Given the description of an element on the screen output the (x, y) to click on. 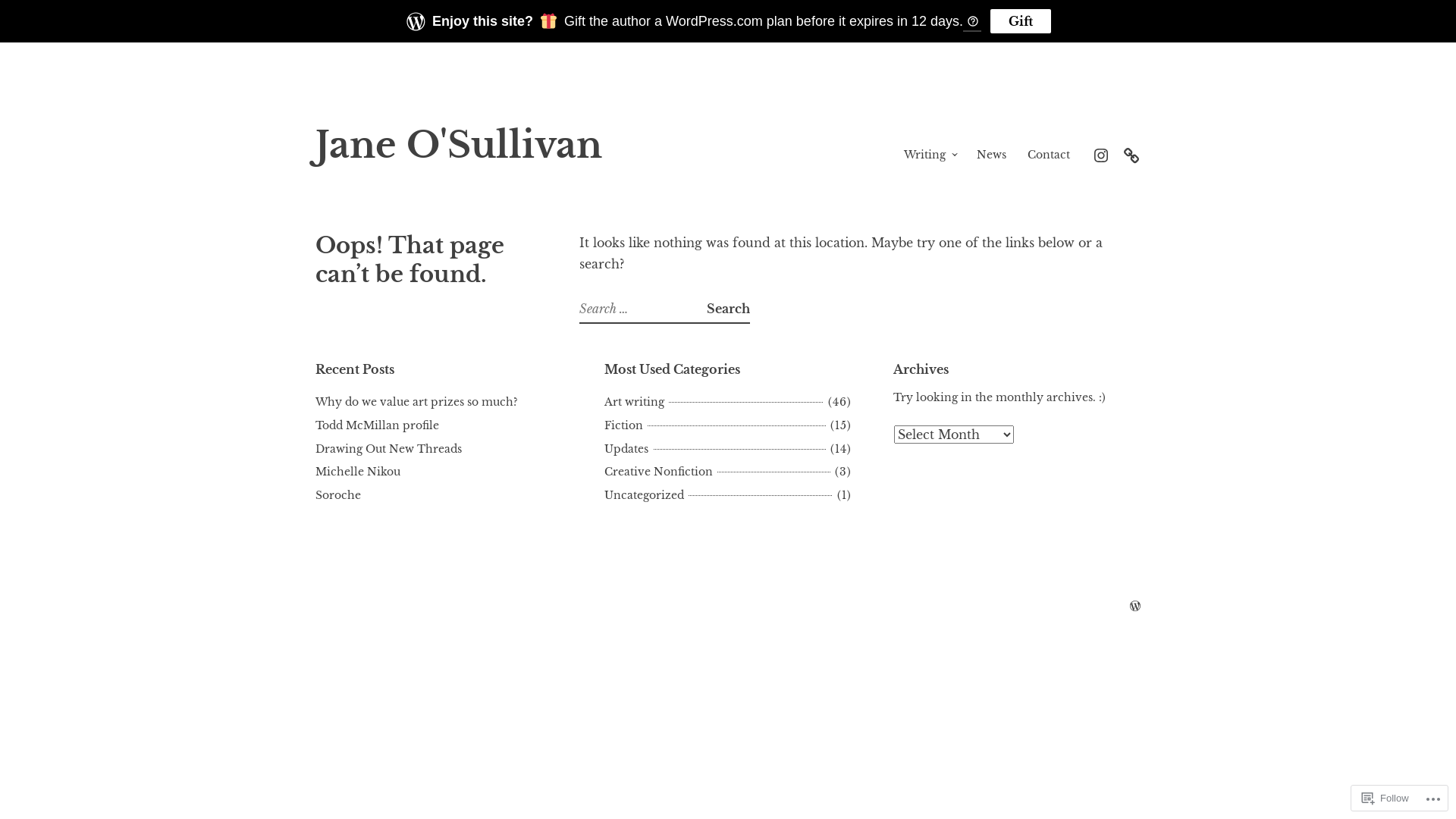
News Element type: text (991, 154)
Fiction Element type: text (625, 425)
Soroche Element type: text (337, 495)
Creative Nonfiction Element type: text (660, 471)
Contact Element type: text (1048, 154)
Drawing Out New Threads Element type: text (388, 448)
Art writing Element type: text (636, 401)
Uncategorized Element type: text (646, 495)
Gift Element type: text (1020, 21)
Create a website or blog at WordPress.com Element type: hover (1134, 606)
Why do we value art prizes so much? Element type: text (416, 401)
Michelle Nikou Element type: text (357, 471)
Search Element type: text (727, 308)
Writing Element type: text (924, 154)
BlueSky Element type: hover (1131, 154)
Todd McMillan profile Element type: text (377, 425)
Jane O'Sullivan Element type: text (458, 144)
Follow Element type: text (1385, 797)
Updates Element type: text (628, 448)
